Given the description of an element on the screen output the (x, y) to click on. 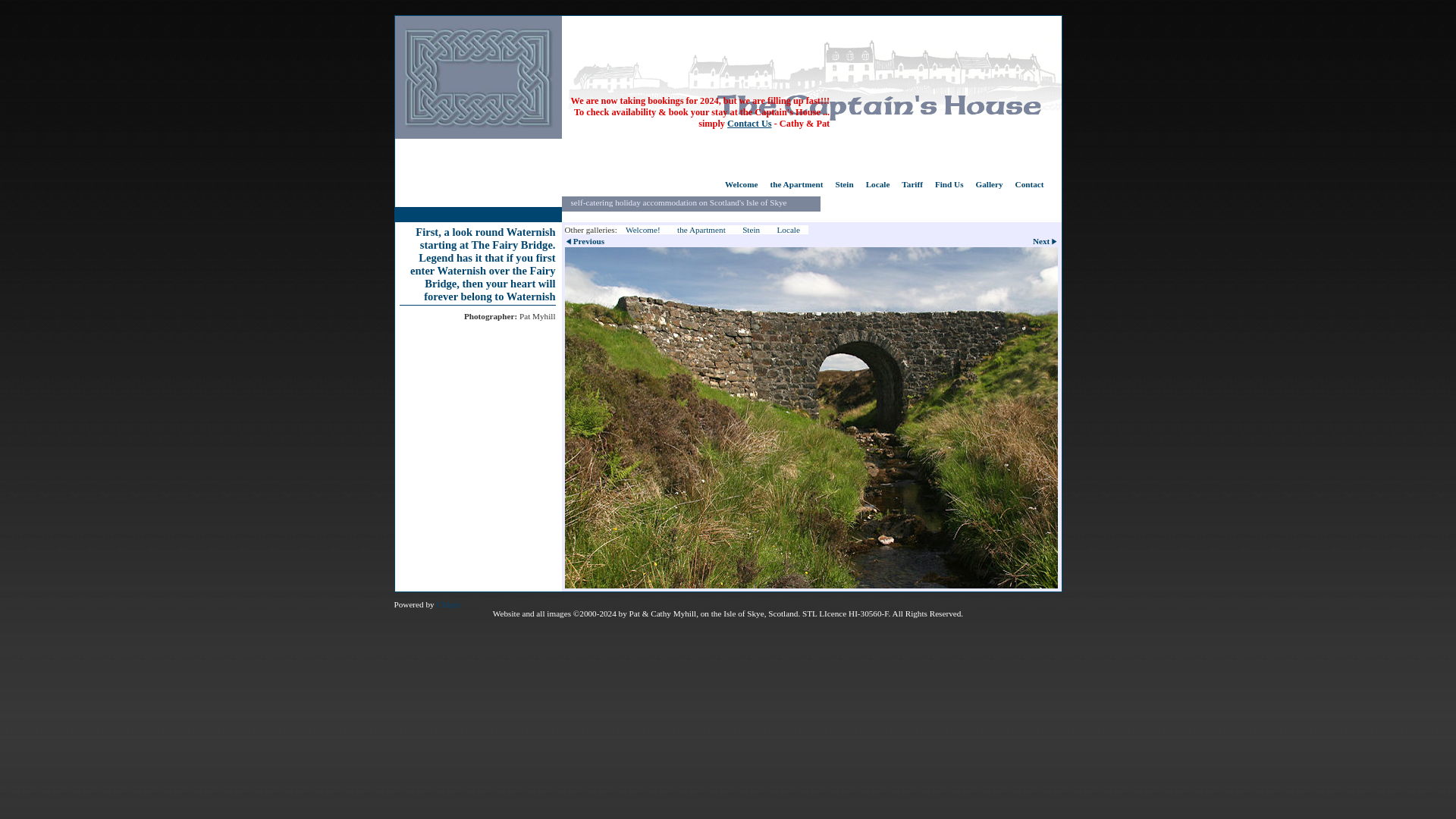
Locale (878, 187)
Stein (843, 187)
Gallery (989, 187)
Welcome (744, 187)
Stein (750, 229)
Welcome! (647, 229)
the Apartment (795, 187)
Clikpic (448, 604)
Find Us (948, 187)
Tariff (911, 187)
Contact Us (748, 122)
Contact (1029, 187)
Locale (788, 229)
the Apartment (700, 229)
